Given the description of an element on the screen output the (x, y) to click on. 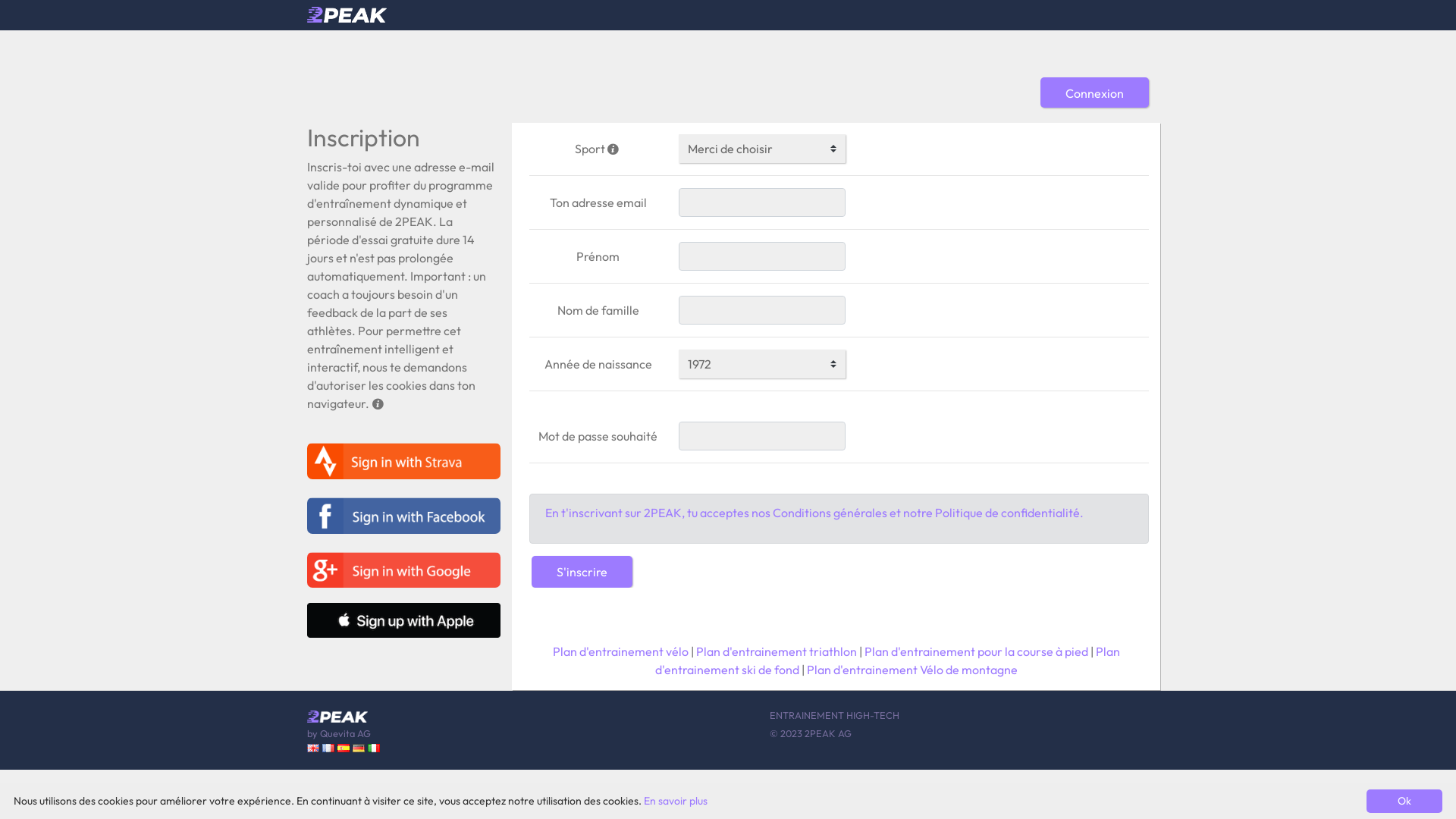
Connexion Element type: text (1094, 92)
En savoir plus Element type: text (675, 800)
Sport Element type: text (597, 148)
S'inscrire Element type: text (581, 571)
Plan d'entrainement triathlon Element type: text (776, 650)
Plan d'entrainement ski de fond Element type: text (887, 660)
